Given the description of an element on the screen output the (x, y) to click on. 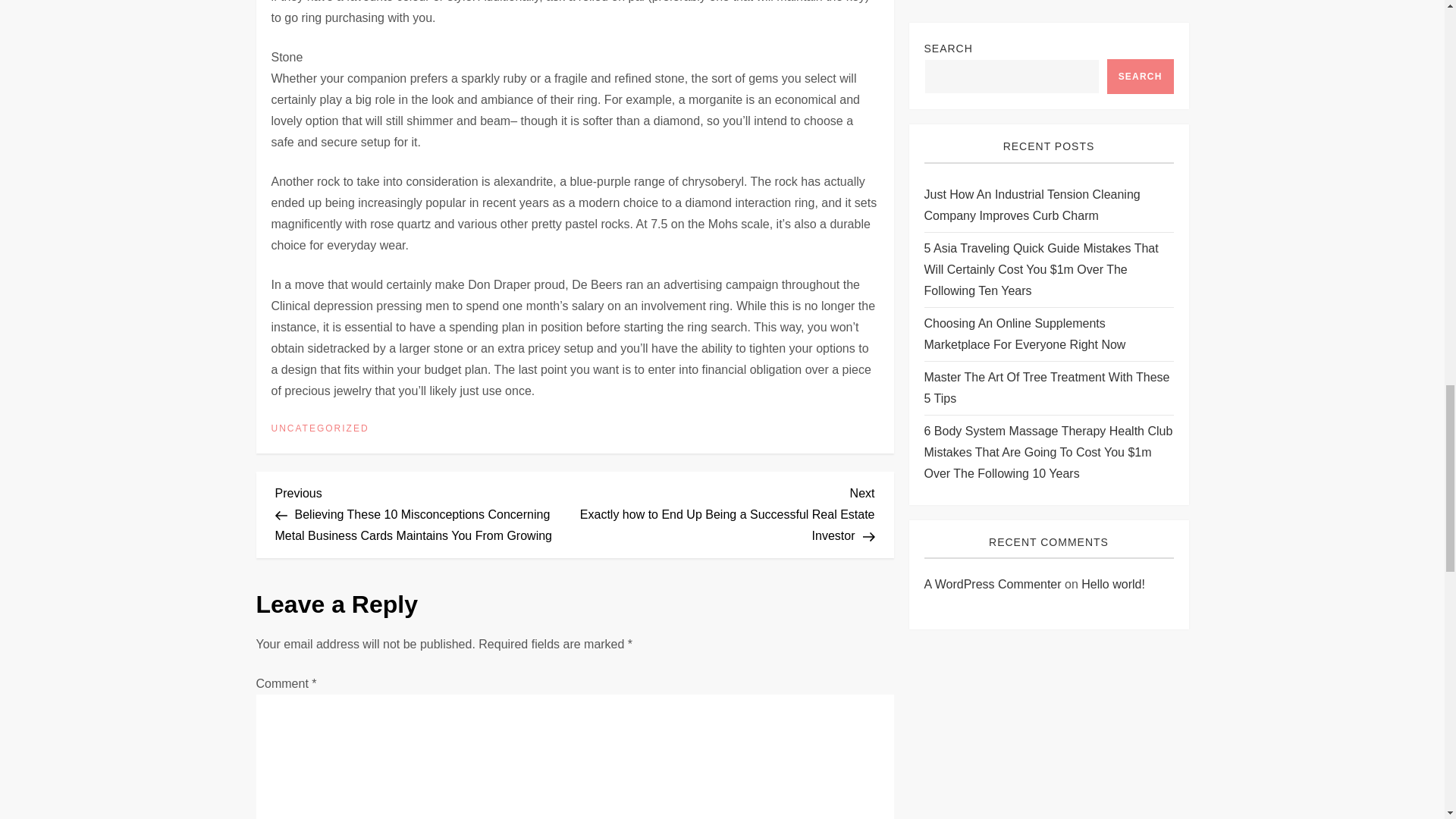
UNCATEGORIZED (319, 428)
